Given the description of an element on the screen output the (x, y) to click on. 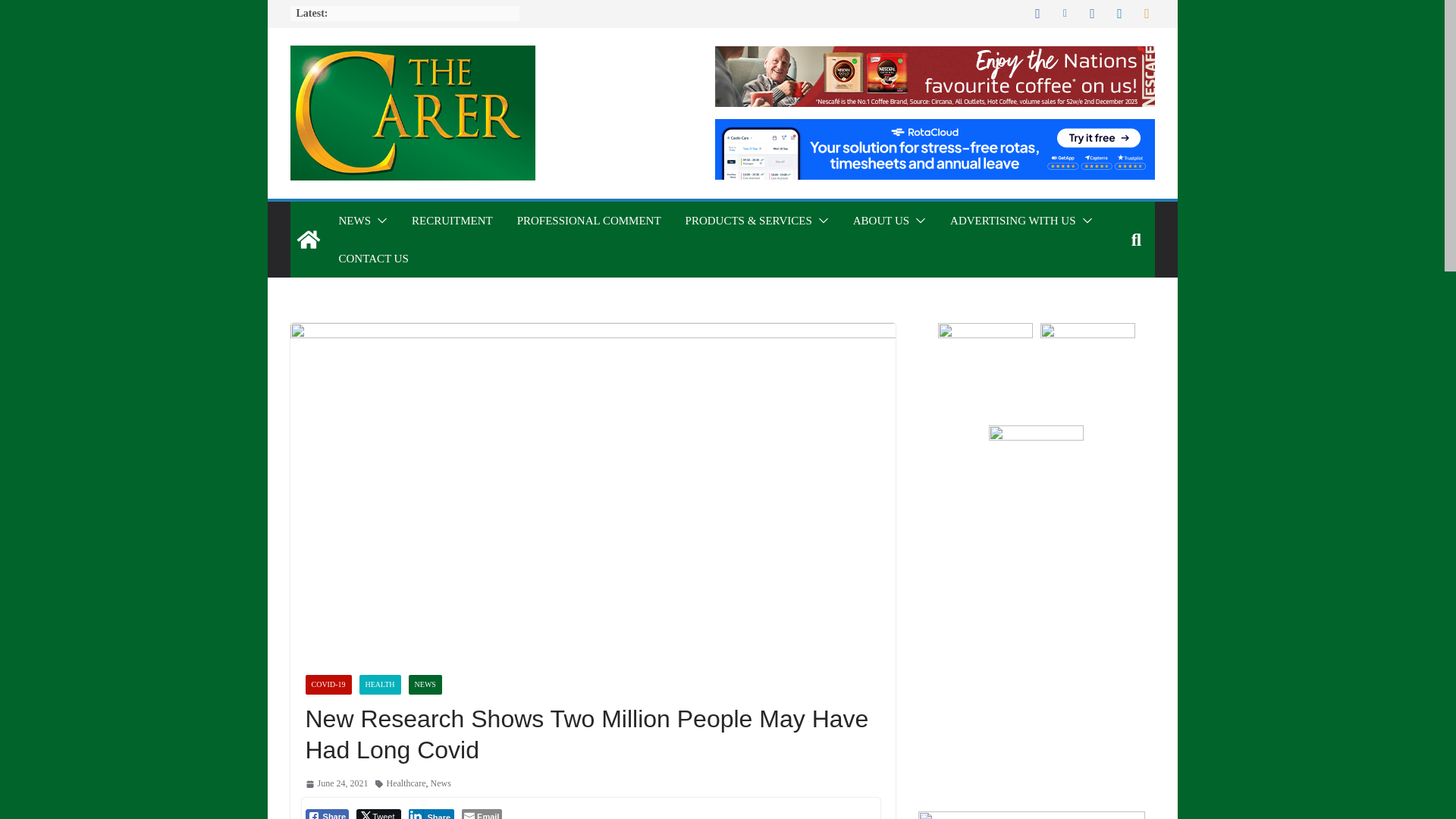
RECRUITMENT (452, 220)
NEWS (354, 220)
12:34 pm (336, 783)
The Carer (307, 239)
PROFESSIONAL COMMENT (588, 220)
